Given the description of an element on the screen output the (x, y) to click on. 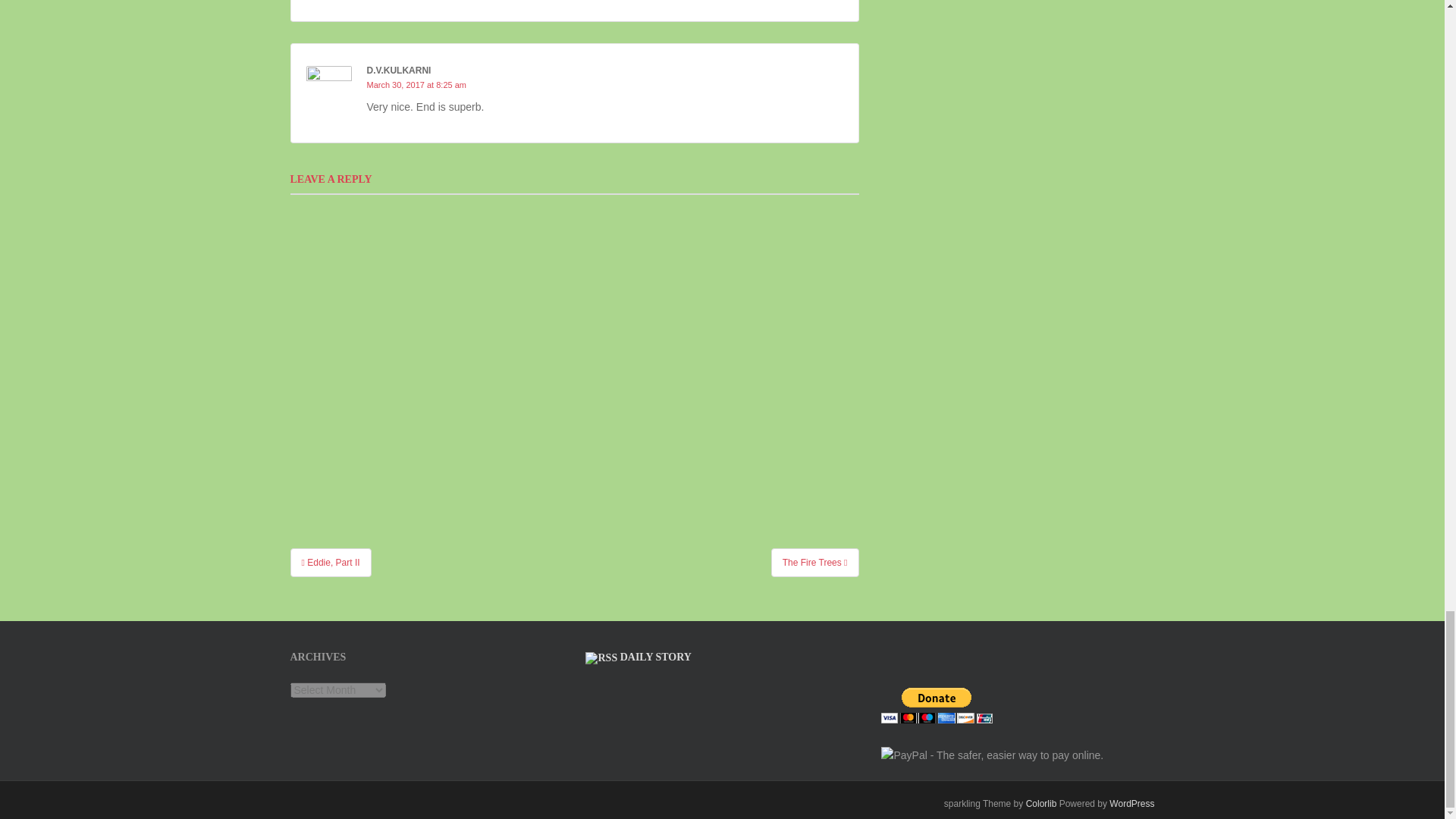
DAILY STORY (655, 656)
Eddie, Part II (330, 562)
March 30, 2017 at 8:25 am (415, 84)
WordPress (1131, 803)
Colorlib (1041, 803)
The Fire Trees (815, 562)
